Given the description of an element on the screen output the (x, y) to click on. 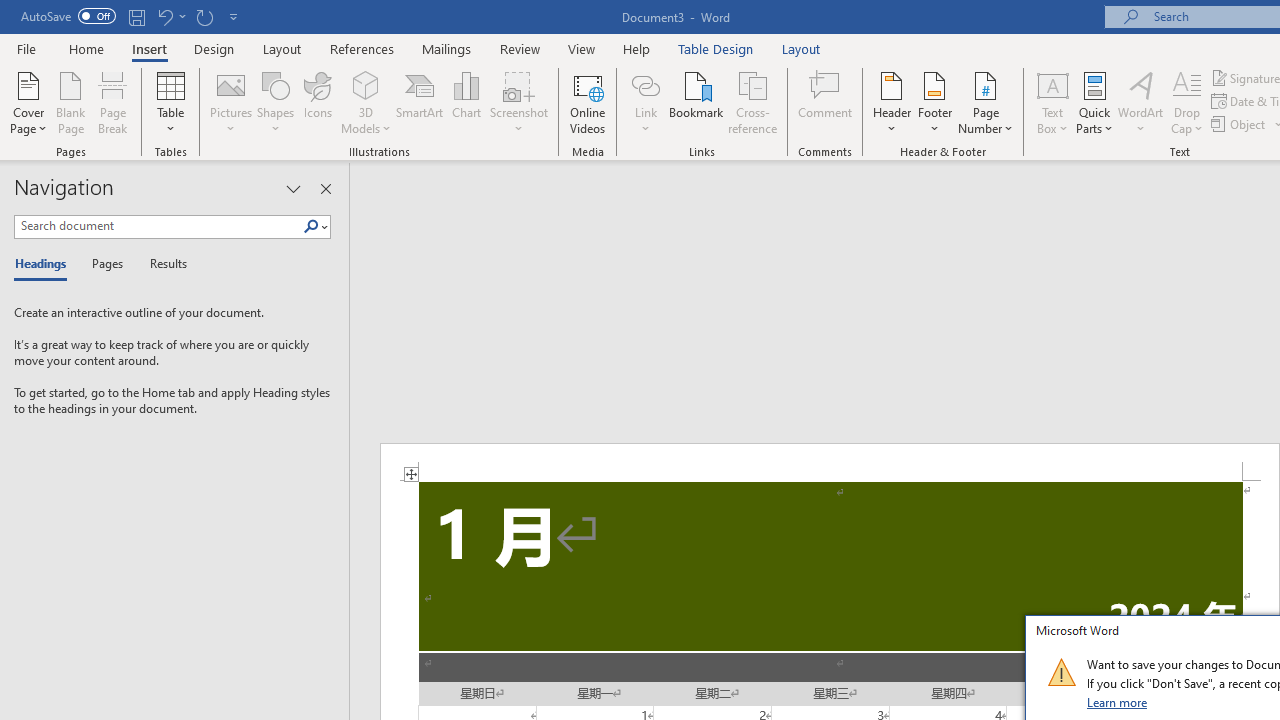
Learn more (1118, 702)
Header -Section 1- (830, 461)
Page Number (986, 102)
Drop Cap (1187, 102)
Cover Page (28, 102)
Footer (934, 102)
Blank Page (70, 102)
Cross-reference... (752, 102)
